Given the description of an element on the screen output the (x, y) to click on. 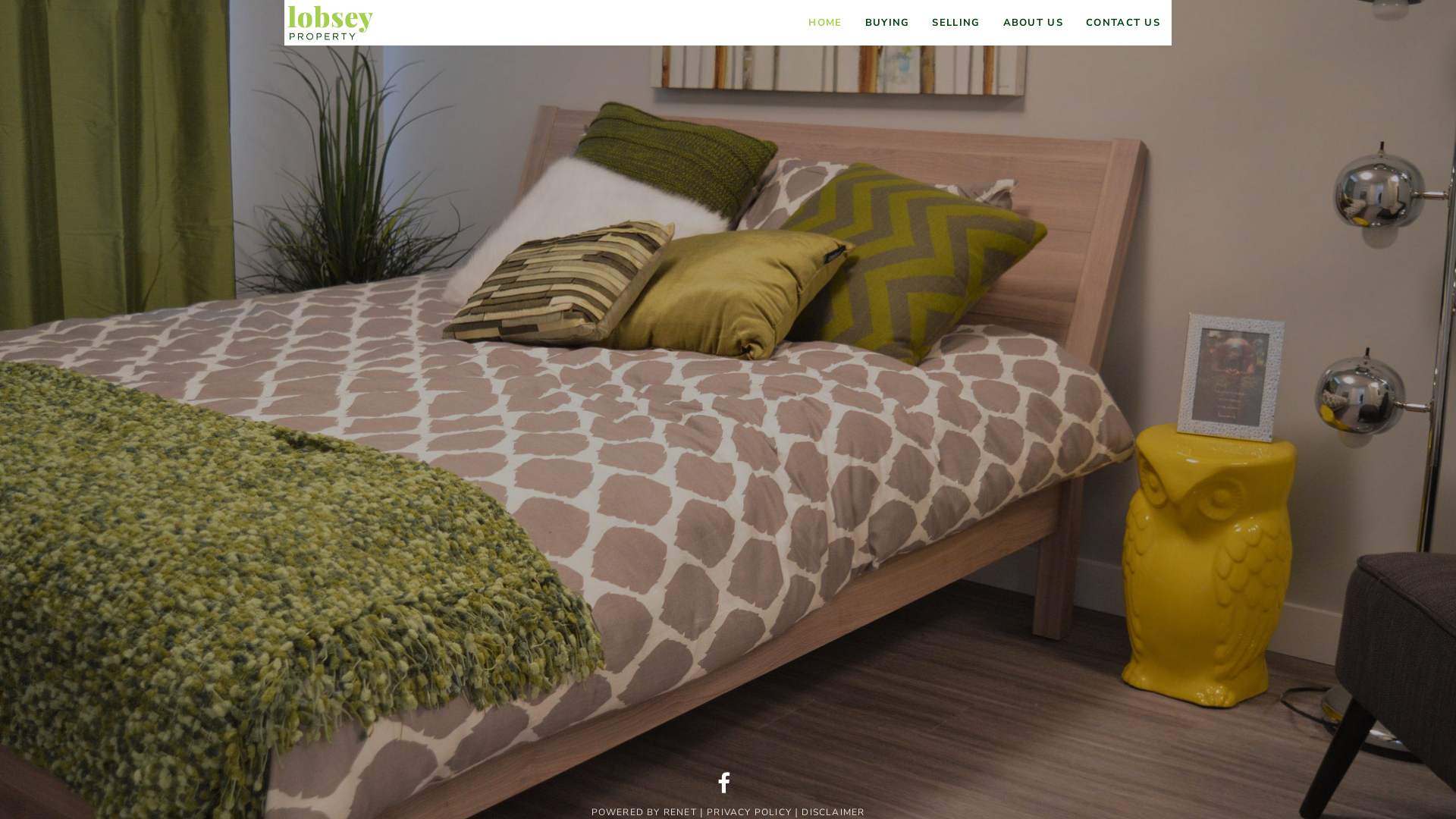
HOME Element type: text (825, 22)
POWERED BY RENET Element type: text (643, 812)
CONTACT US Element type: text (1122, 22)
ABOUT US Element type: text (1032, 22)
DISCLAIMER Element type: text (832, 812)
PRIVACY POLICY Element type: text (748, 812)
SELLING Element type: text (955, 22)
BUYING Element type: text (887, 22)
